Given the description of an element on the screen output the (x, y) to click on. 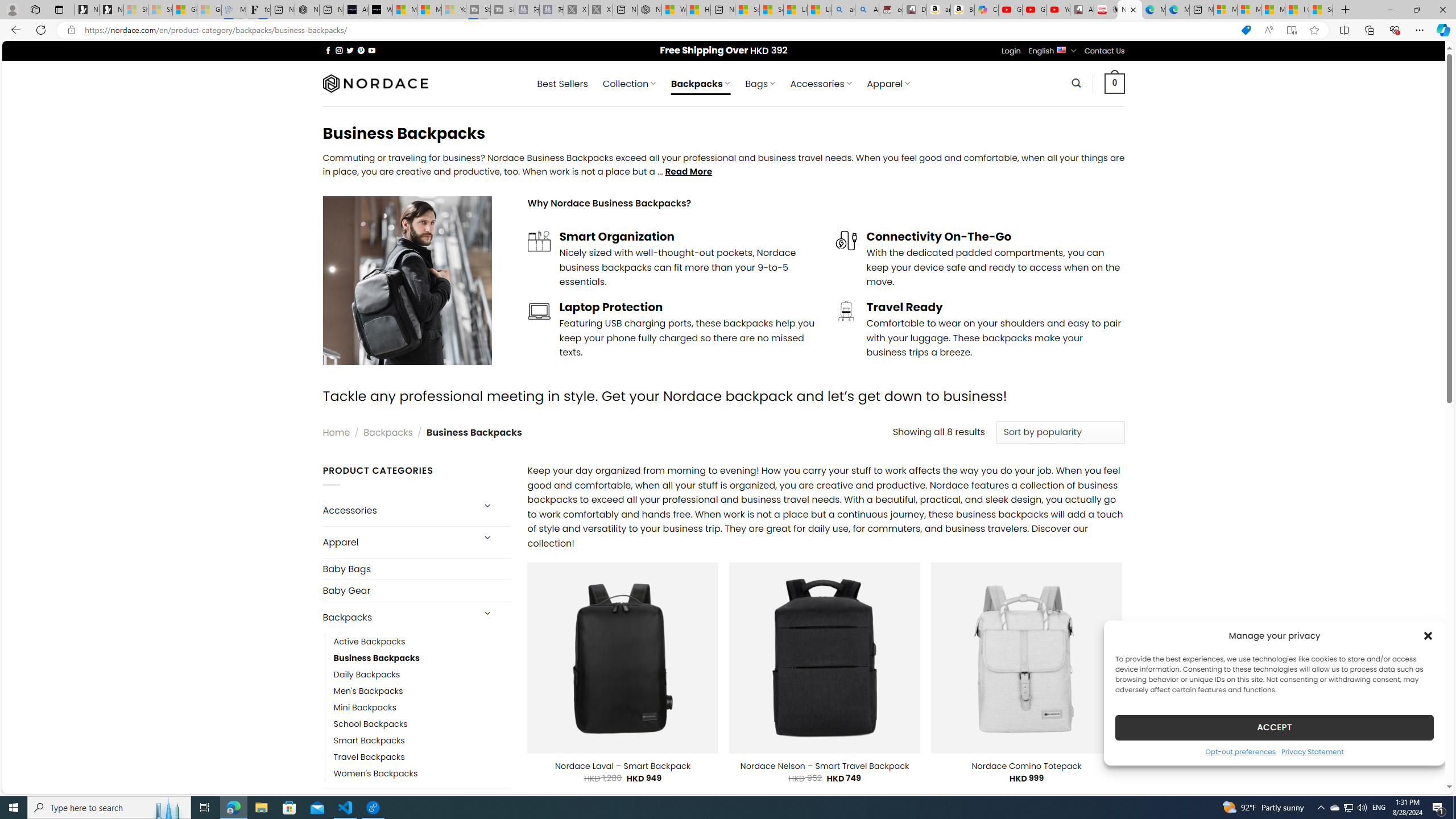
Active Backpacks (369, 641)
AI Voice Changer for PC and Mac - Voice.ai (355, 9)
English (1061, 49)
Active Backpacks (422, 641)
amazon.in/dp/B0CX59H5W7/?tag=gsmcom05-21 (938, 9)
Travel Backpacks (422, 756)
Copilot (986, 9)
Baby Bags (416, 568)
